Given the description of an element on the screen output the (x, y) to click on. 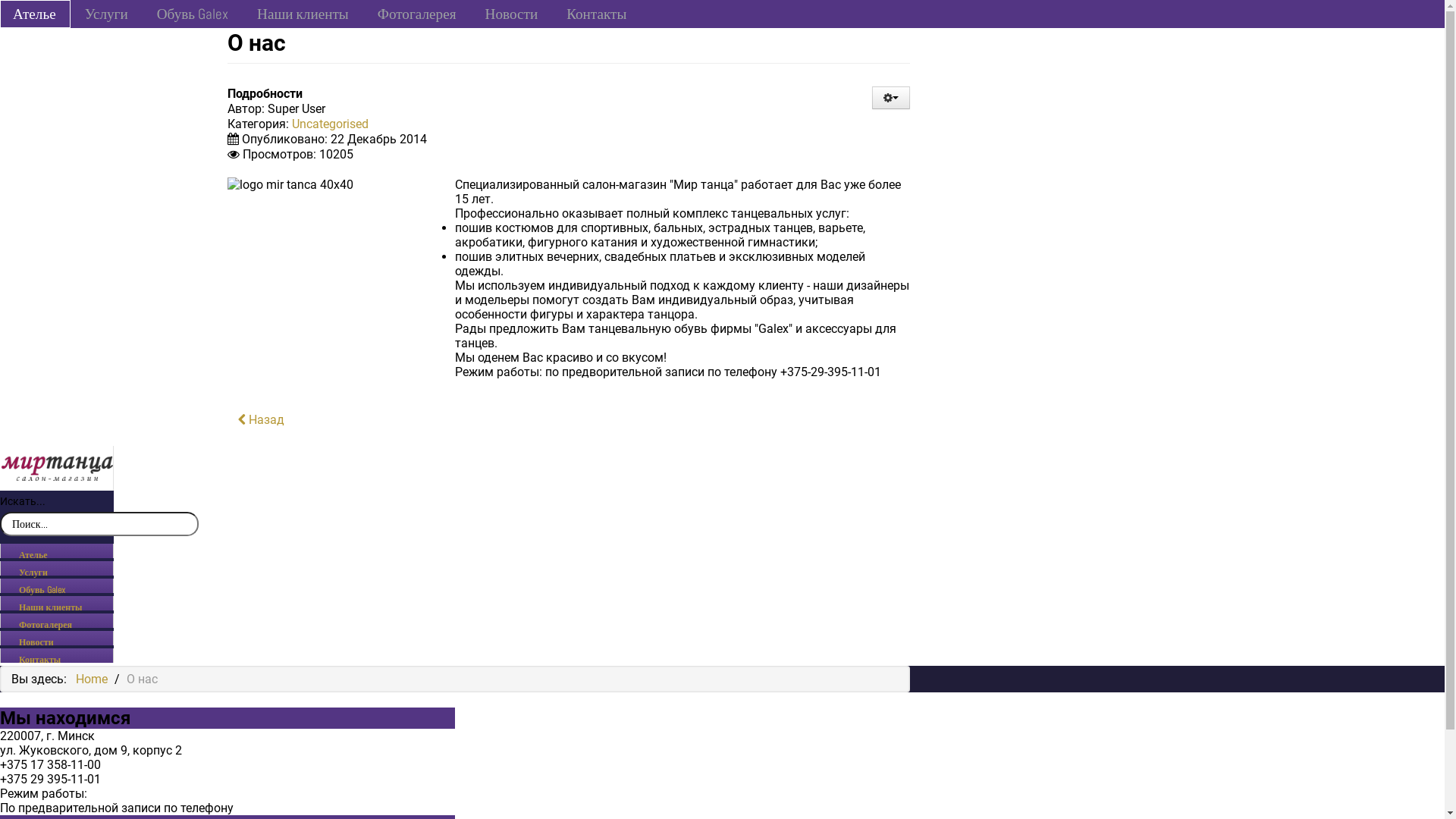
Home Element type: text (91, 678)
Uncategorised Element type: text (329, 123)
